Given the description of an element on the screen output the (x, y) to click on. 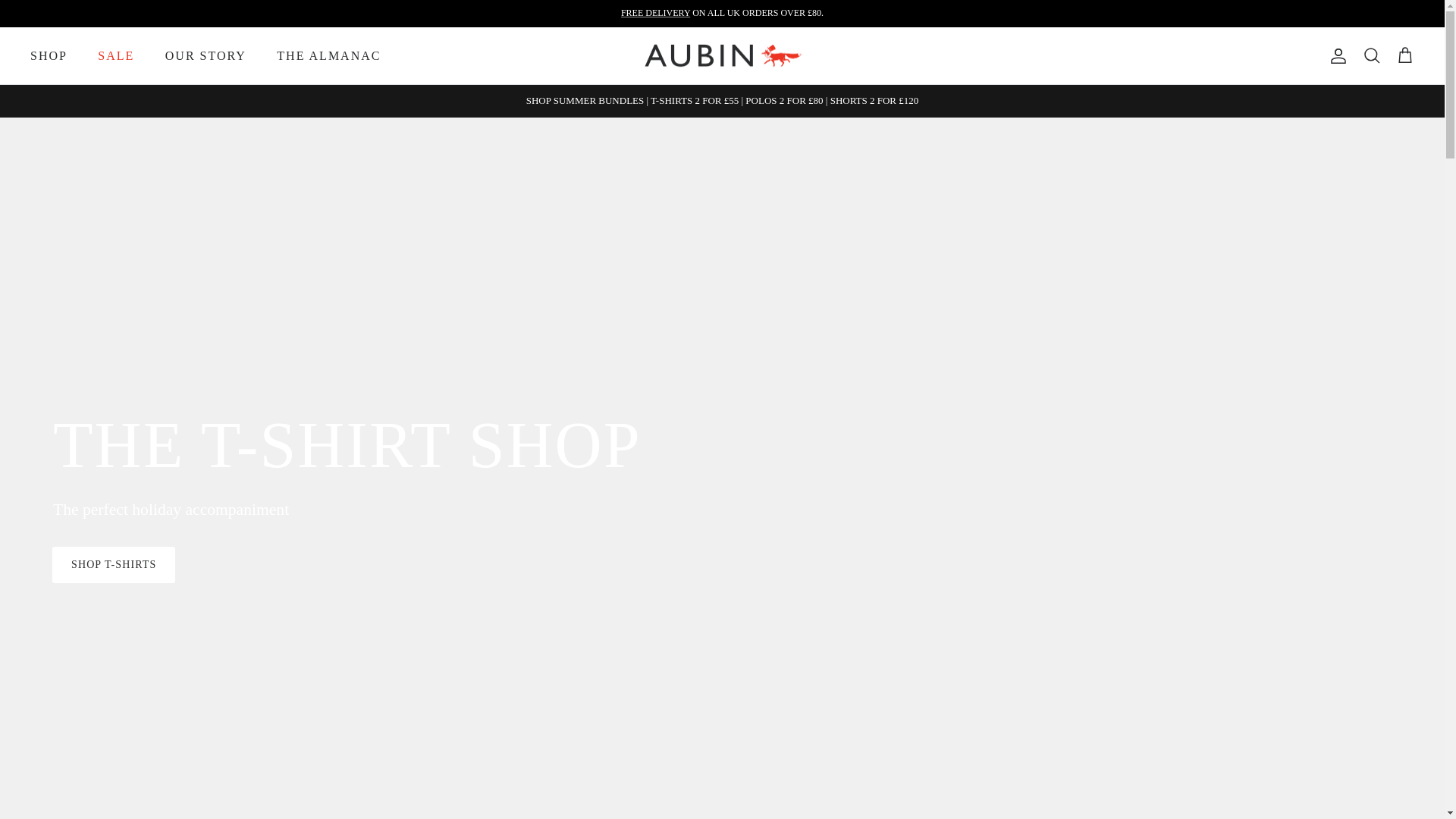
Cart (1404, 55)
Aubin (722, 55)
SHOP (48, 55)
SALE (116, 55)
OUR STORY (205, 55)
Account (1335, 55)
FREE DELIVERY (655, 12)
Search (1371, 55)
THE ALMANAC (328, 55)
